Given the description of an element on the screen output the (x, y) to click on. 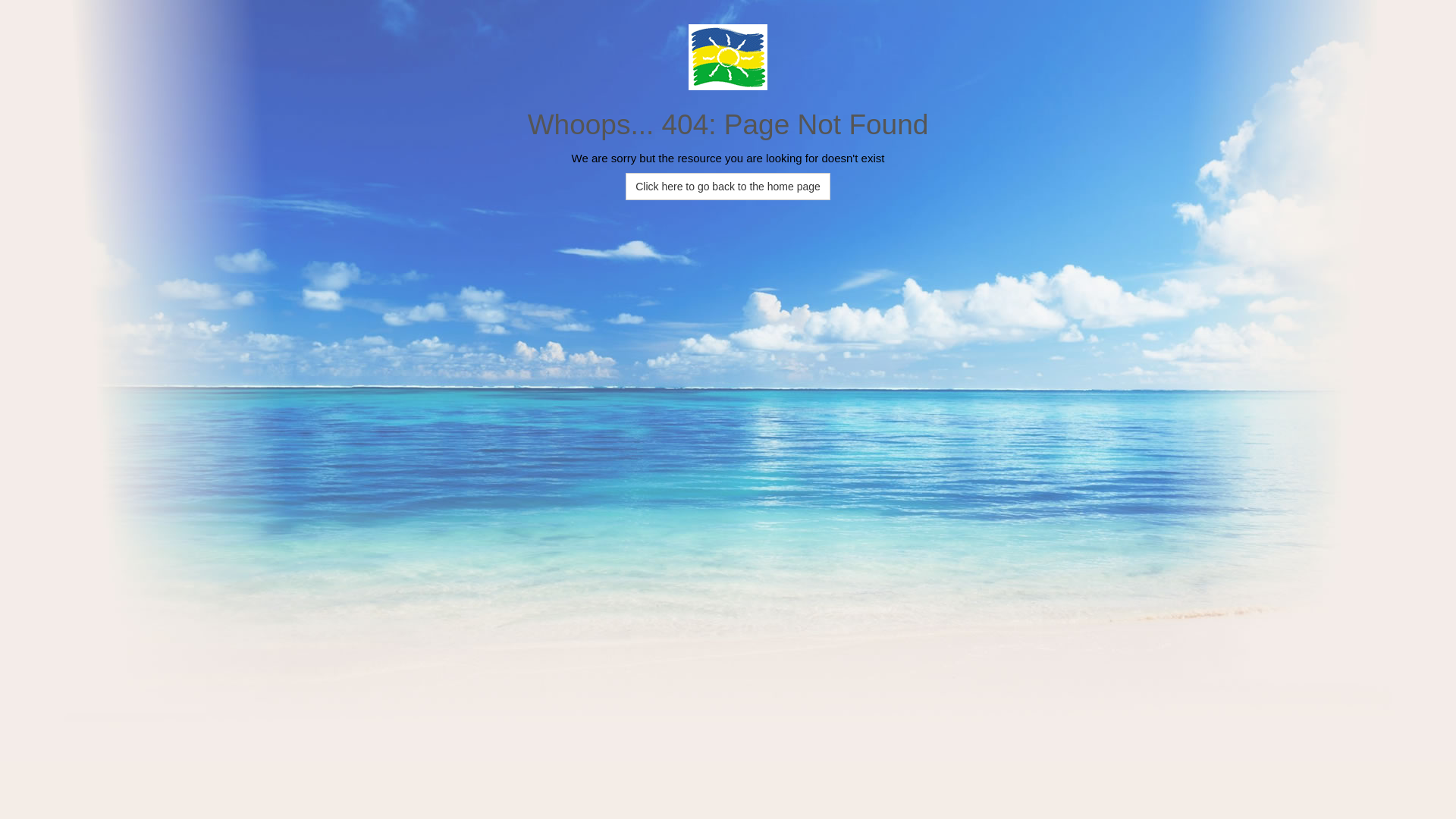
Click here to go back to the home page Element type: text (727, 186)
